Given the description of an element on the screen output the (x, y) to click on. 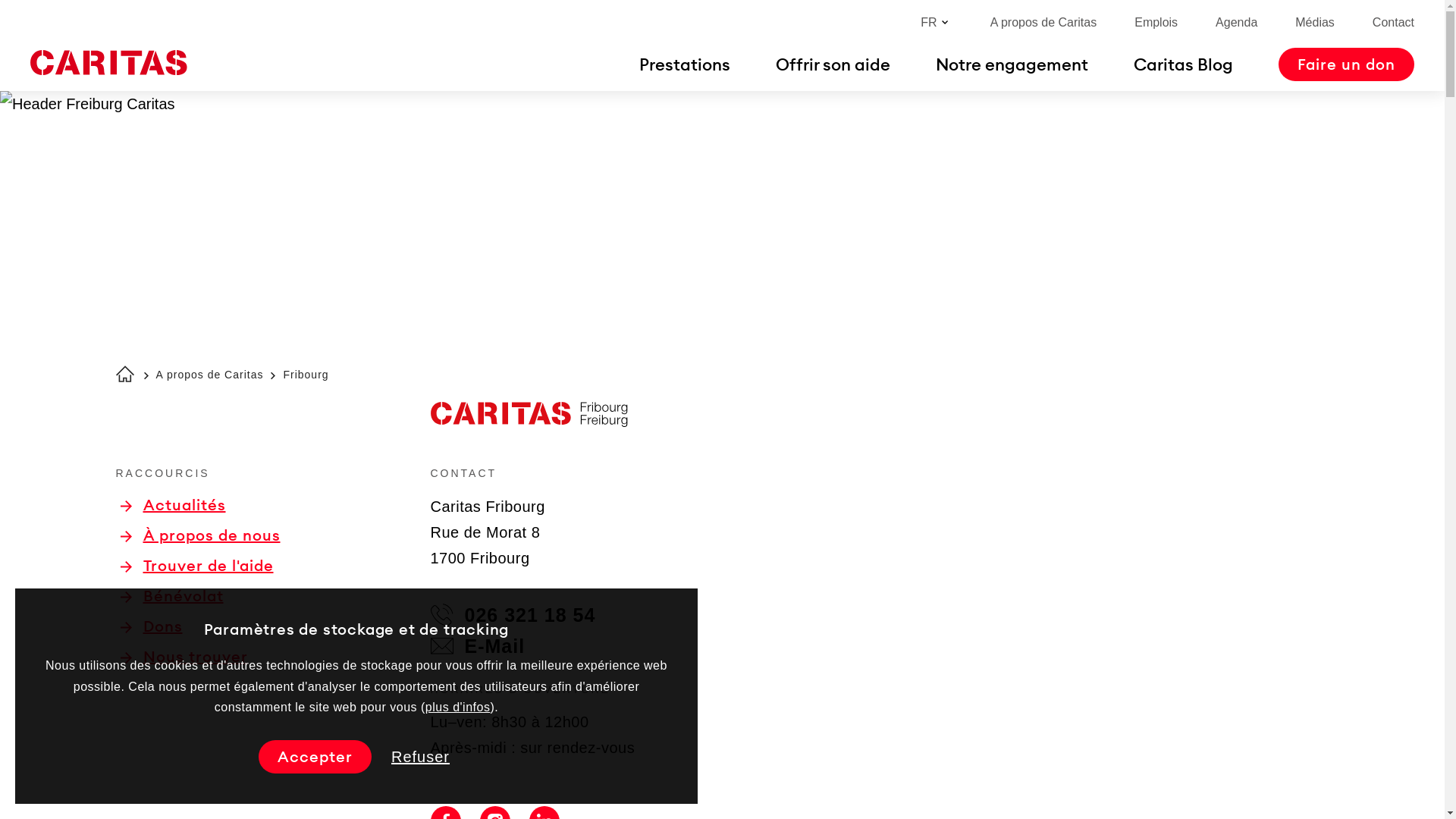
Refuser Element type: text (420, 756)
Page d'accueil Element type: text (108, 62)
Page d'accueil Element type: text (124, 373)
plus d'infos Element type: text (457, 706)
Accepter Element type: text (314, 756)
Nous trouver Element type: text (183, 656)
Contact Element type: text (1393, 21)
026 321 18 54
Le lien s'ouvre dans un nouvel onglet. Element type: text (513, 614)
Notre engagement Element type: text (1011, 64)
E-Mail
Le lien s'ouvre dans un nouvel onglet. Element type: text (477, 645)
A propos de Caritas Element type: text (209, 375)
Prestations Element type: text (684, 64)
Faire un don
Le lien s'ouvre dans un nouvel onglet. Element type: text (1346, 64)
Offrir son aide Element type: text (832, 64)
Caritas Blog Element type: text (1183, 64)
A propos de Caritas Element type: text (1043, 21)
Emplois Element type: text (1155, 21)
Trouver de l'aide Element type: text (196, 565)
Agenda Element type: text (1236, 21)
Open sub menu Element type: text (18, 18)
Dons Element type: text (150, 626)
